Given the description of an element on the screen output the (x, y) to click on. 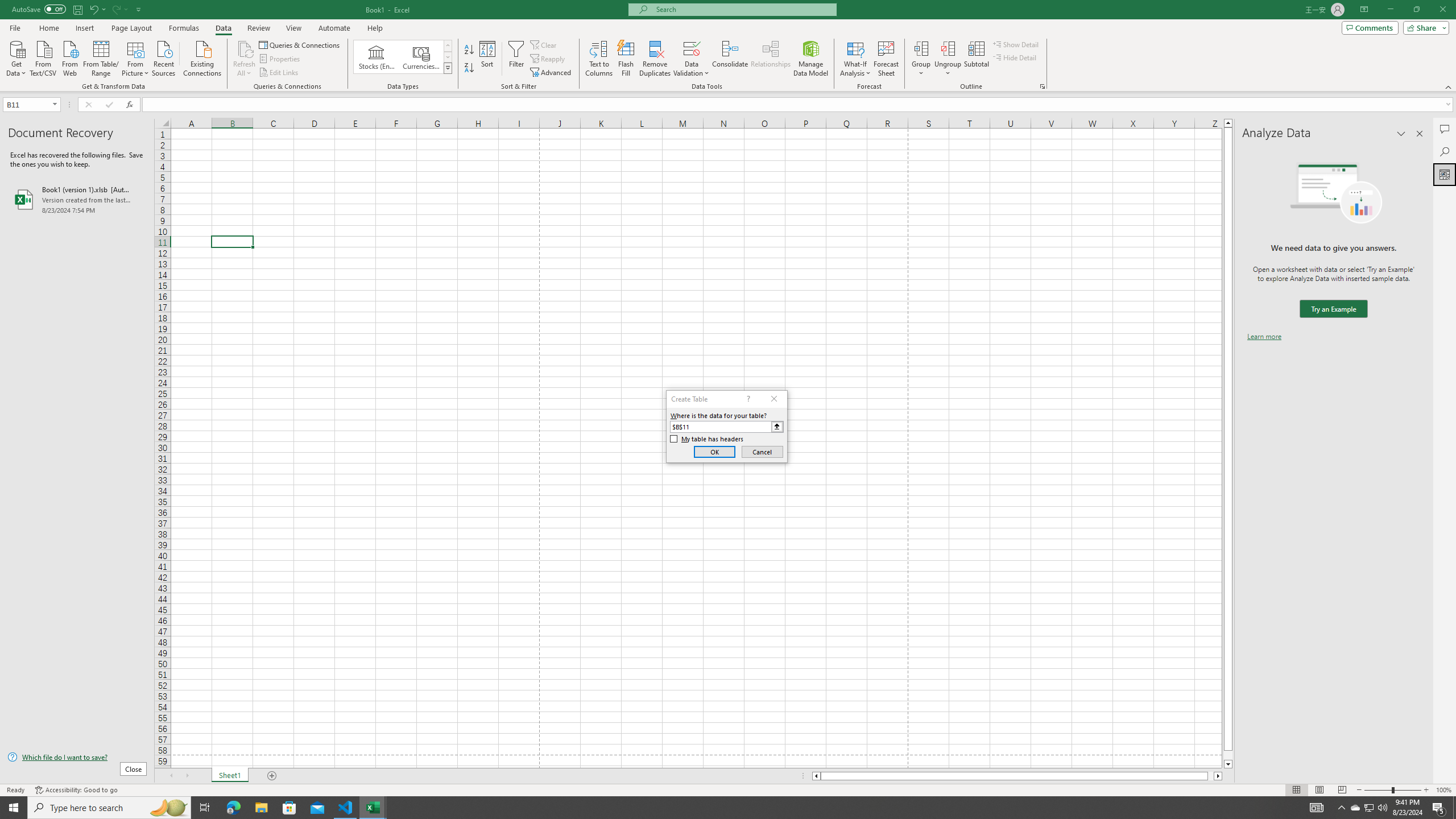
Consolidate... (729, 58)
